Given the description of an element on the screen output the (x, y) to click on. 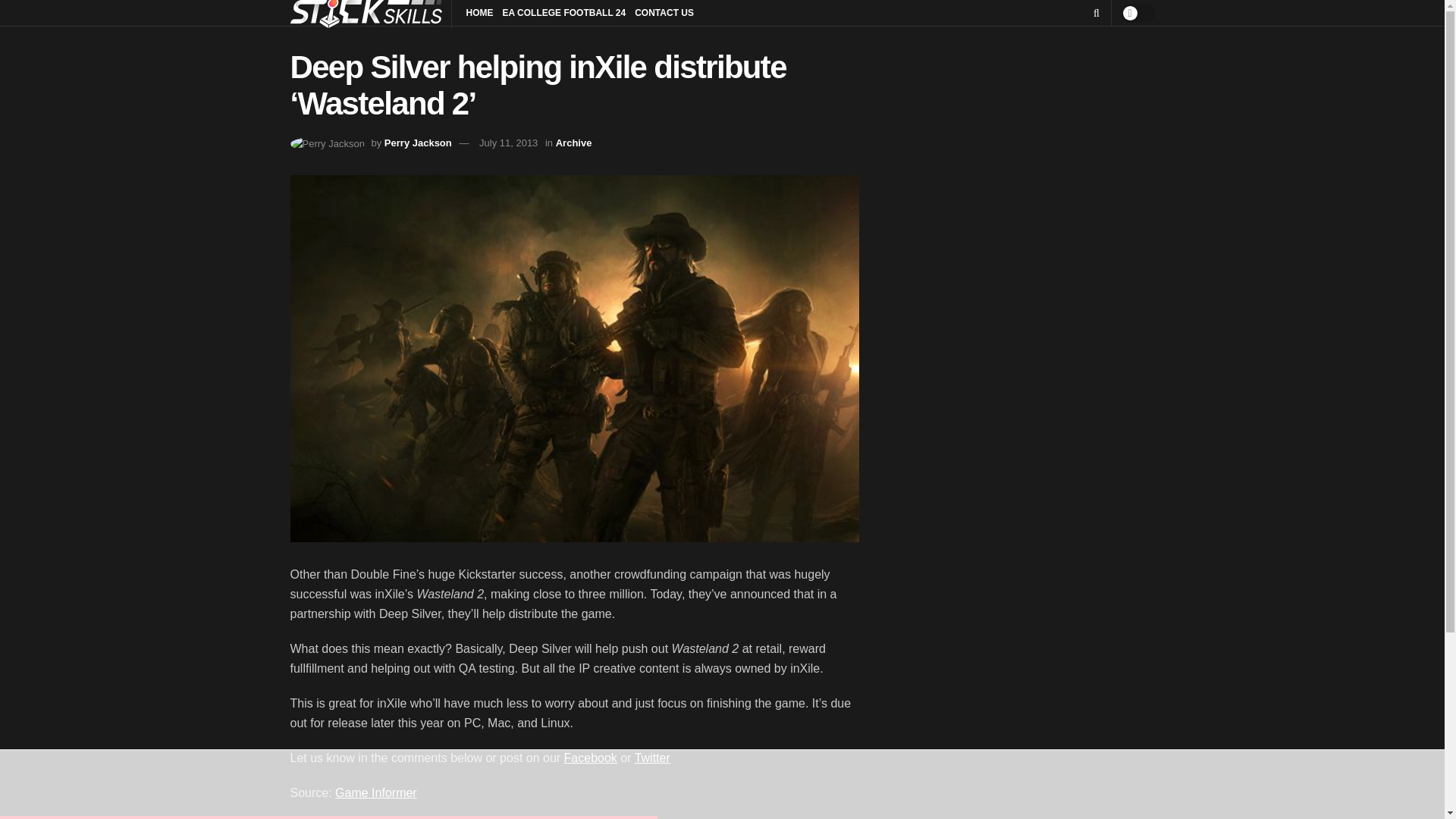
Facebook (590, 757)
Perry Jackson (417, 142)
Game Informer (375, 792)
CONTACT US (664, 12)
HOME (479, 12)
EA COLLEGE FOOTBALL 24 (564, 12)
Archive (574, 142)
July 11, 2013 (508, 142)
Twitter (651, 757)
